Given the description of an element on the screen output the (x, y) to click on. 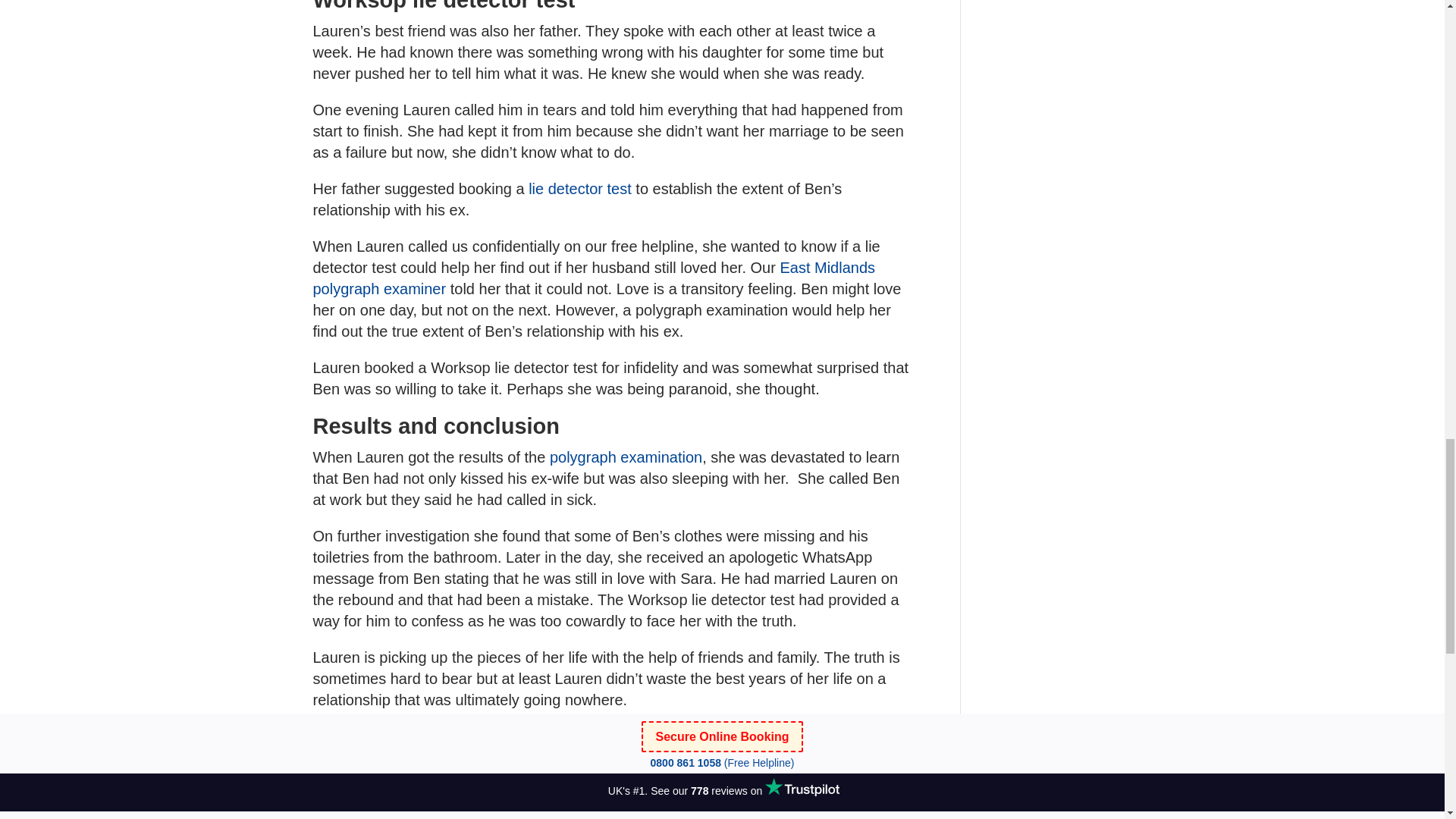
lie detector test (579, 188)
East Midlands polygraph examiner (594, 278)
